Given the description of an element on the screen output the (x, y) to click on. 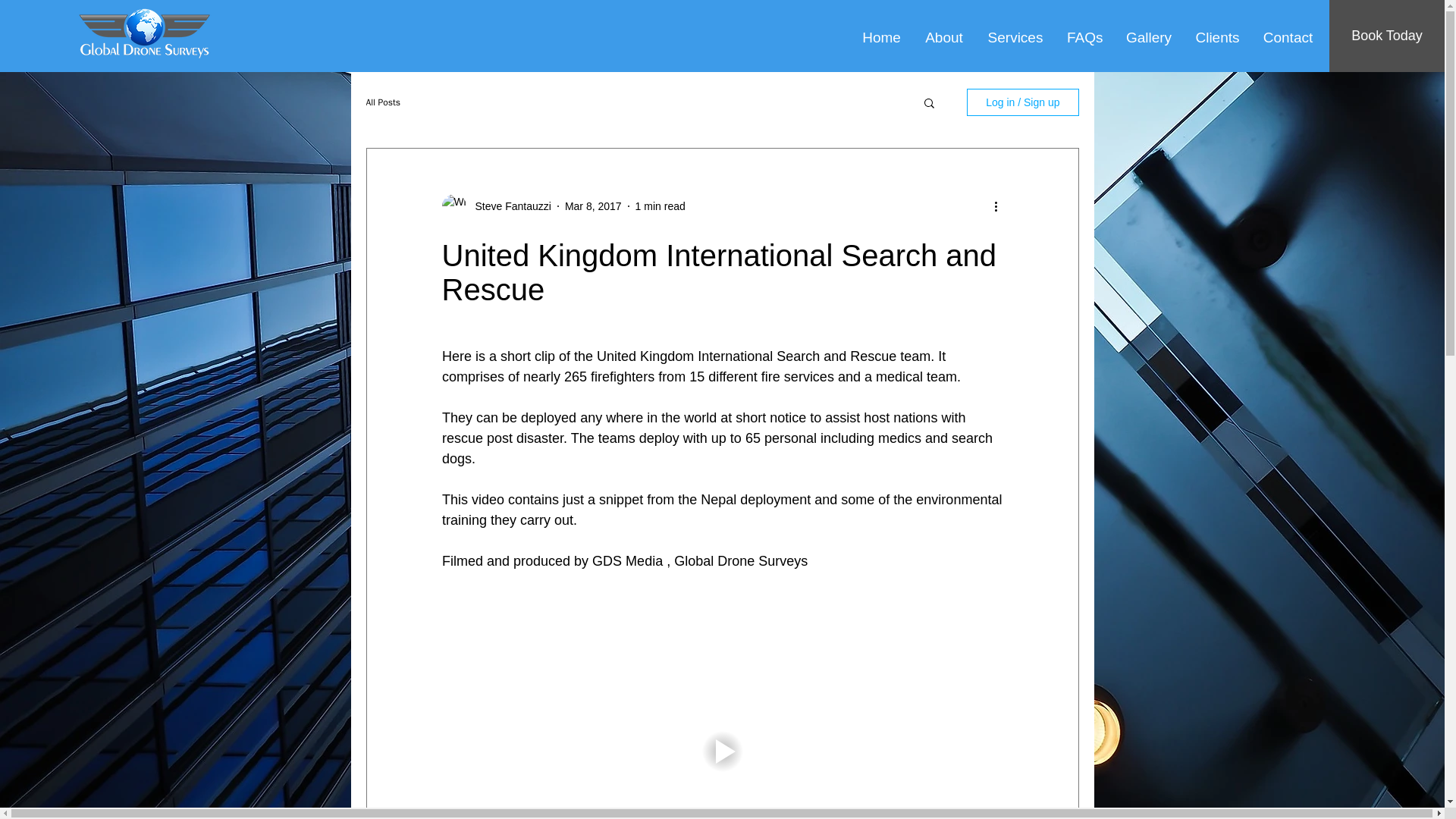
1 min read (659, 205)
Contact (1287, 35)
FAQs (1084, 35)
All Posts (382, 101)
Services (1015, 35)
Book Today (1386, 36)
Gallery (1148, 35)
Global Drone Surveys (143, 35)
Steve Fantauzzi (507, 206)
About (943, 35)
